Given the description of an element on the screen output the (x, y) to click on. 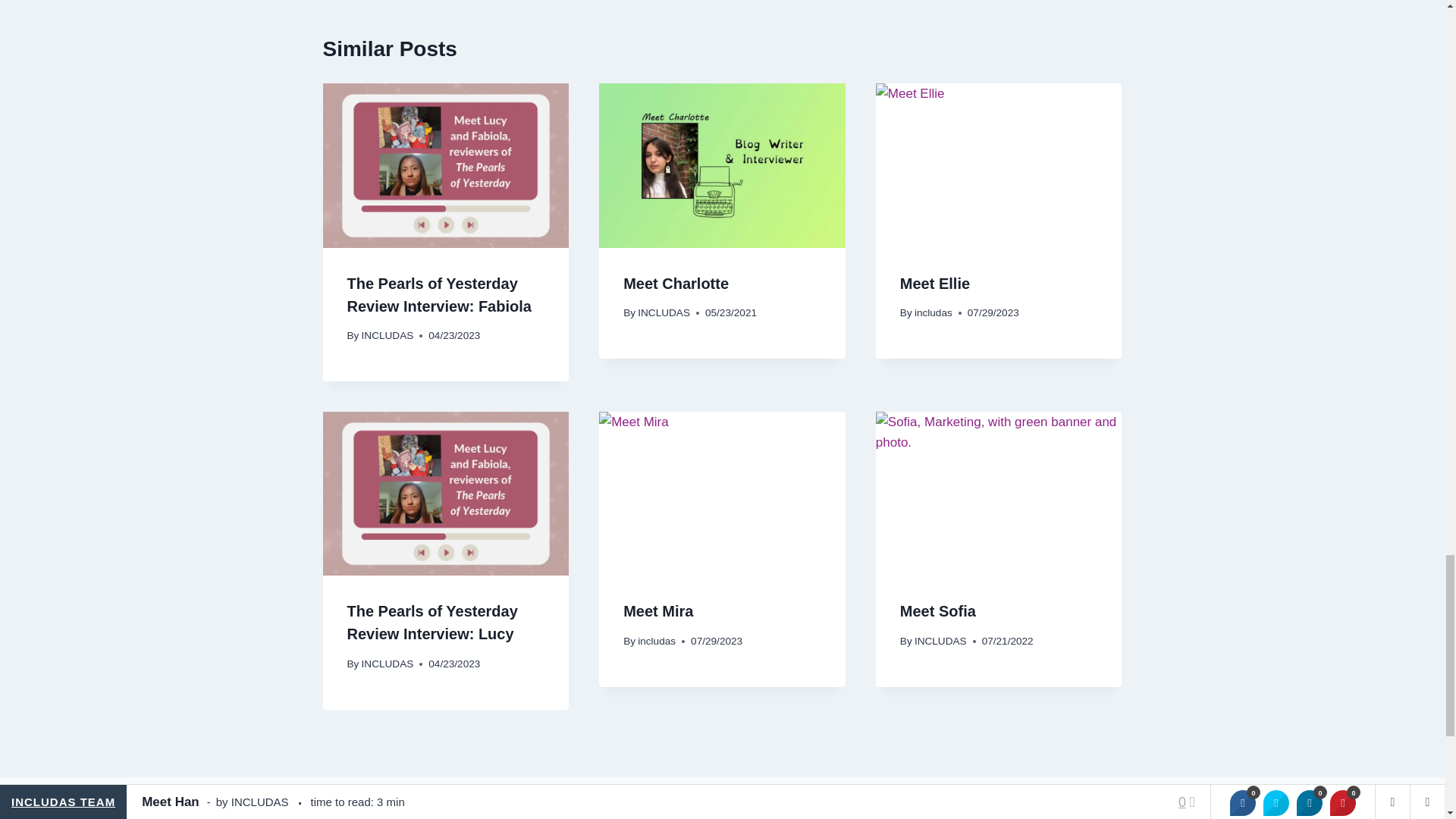
INCLUDAS (387, 335)
includas (933, 312)
Meet Charlotte (676, 283)
The Pearls of Yesterday Review Interview: Fabiola (439, 294)
Meet Ellie (934, 283)
INCLUDAS (663, 312)
